Given the description of an element on the screen output the (x, y) to click on. 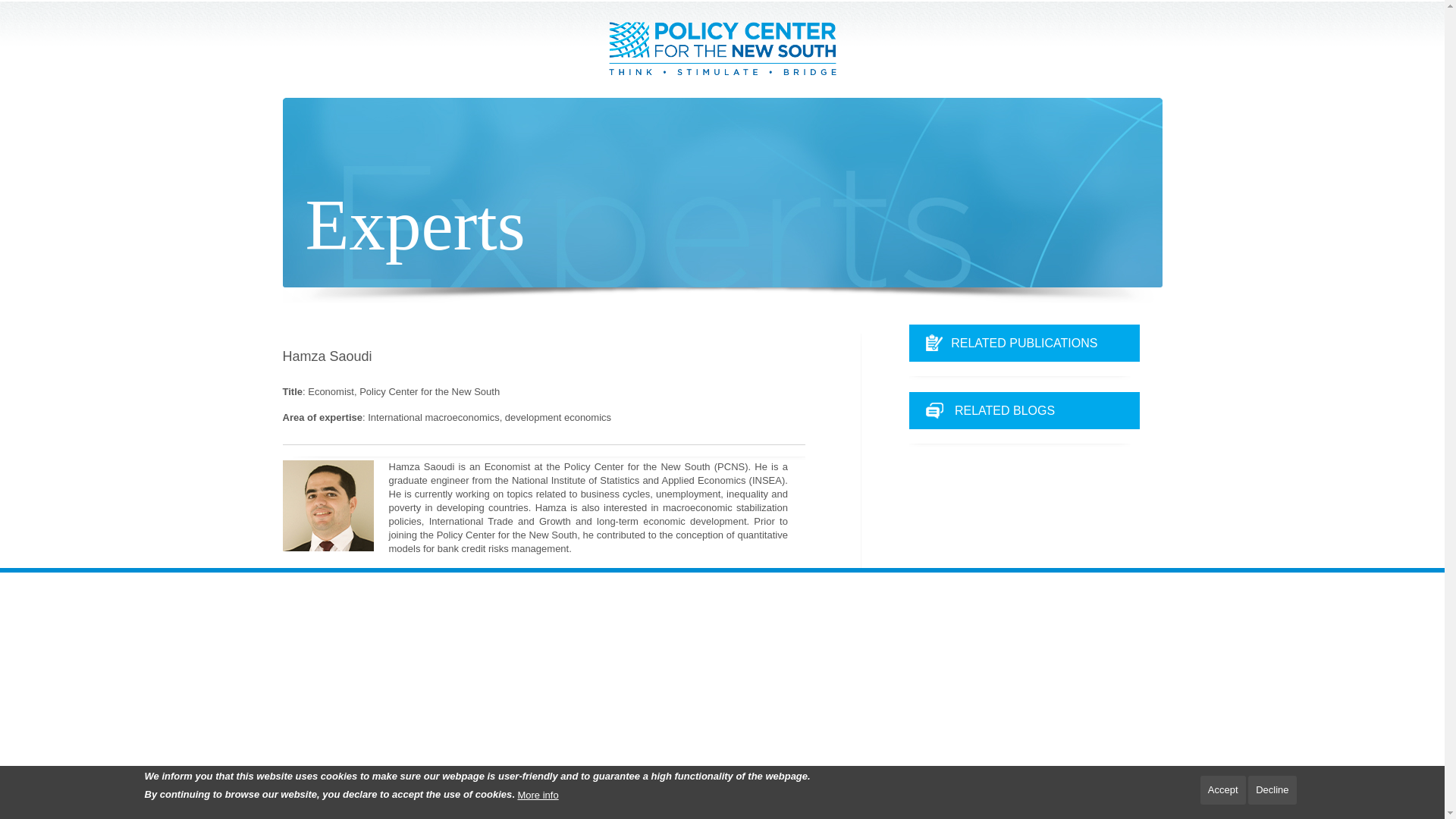
Policy Center for the New South (721, 48)
